Given the description of an element on the screen output the (x, y) to click on. 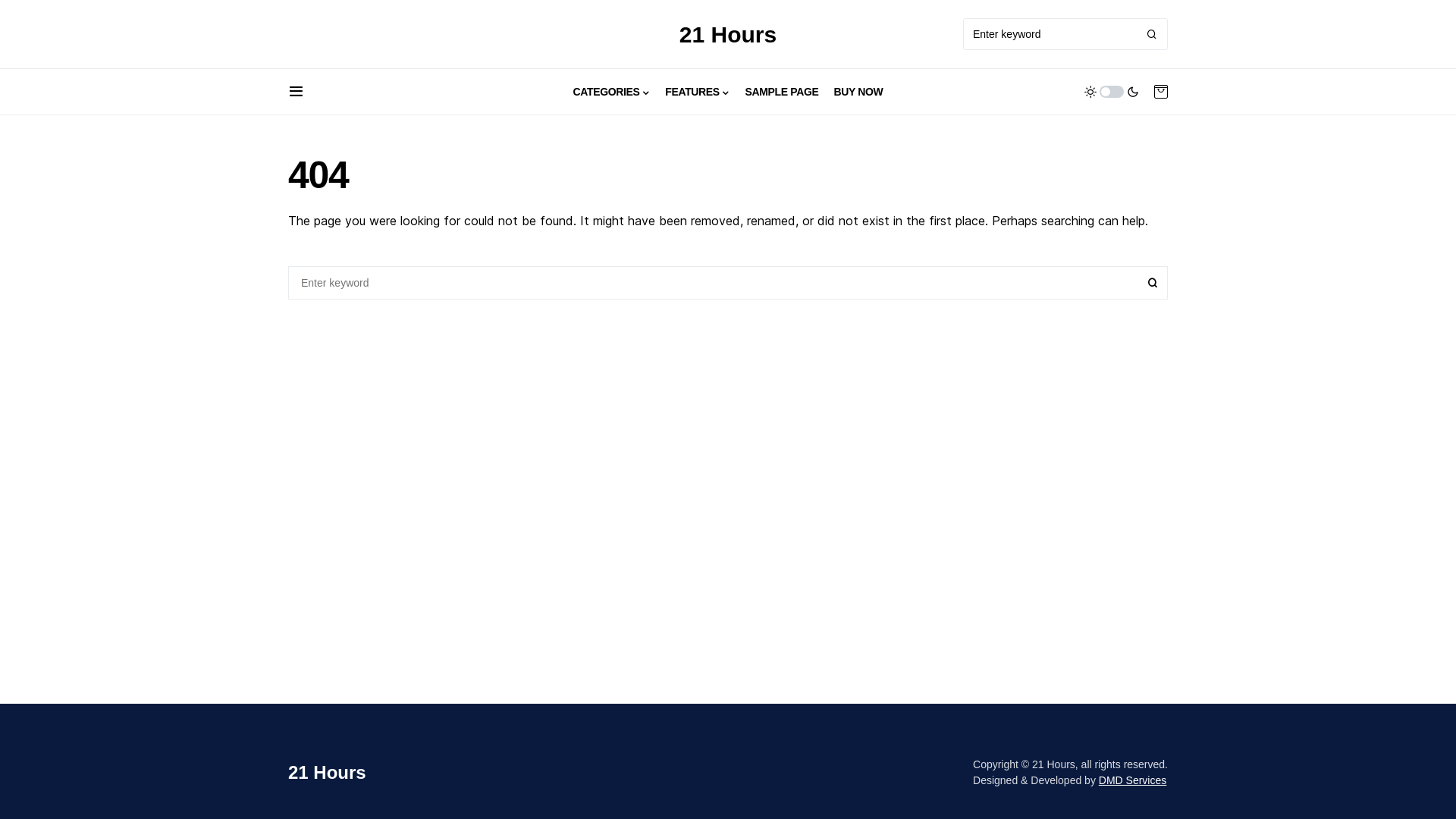
21 Hours Element type: text (327, 772)
CATEGORIES Element type: text (611, 91)
View your shopping cart Element type: hover (1160, 91)
FEATURES Element type: text (697, 91)
SAMPLE PAGE Element type: text (781, 91)
BUY NOW Element type: text (858, 91)
21 Hours Element type: text (727, 33)
DMD Services Element type: text (1132, 780)
SEARCH Element type: text (1152, 282)
